Given the description of an element on the screen output the (x, y) to click on. 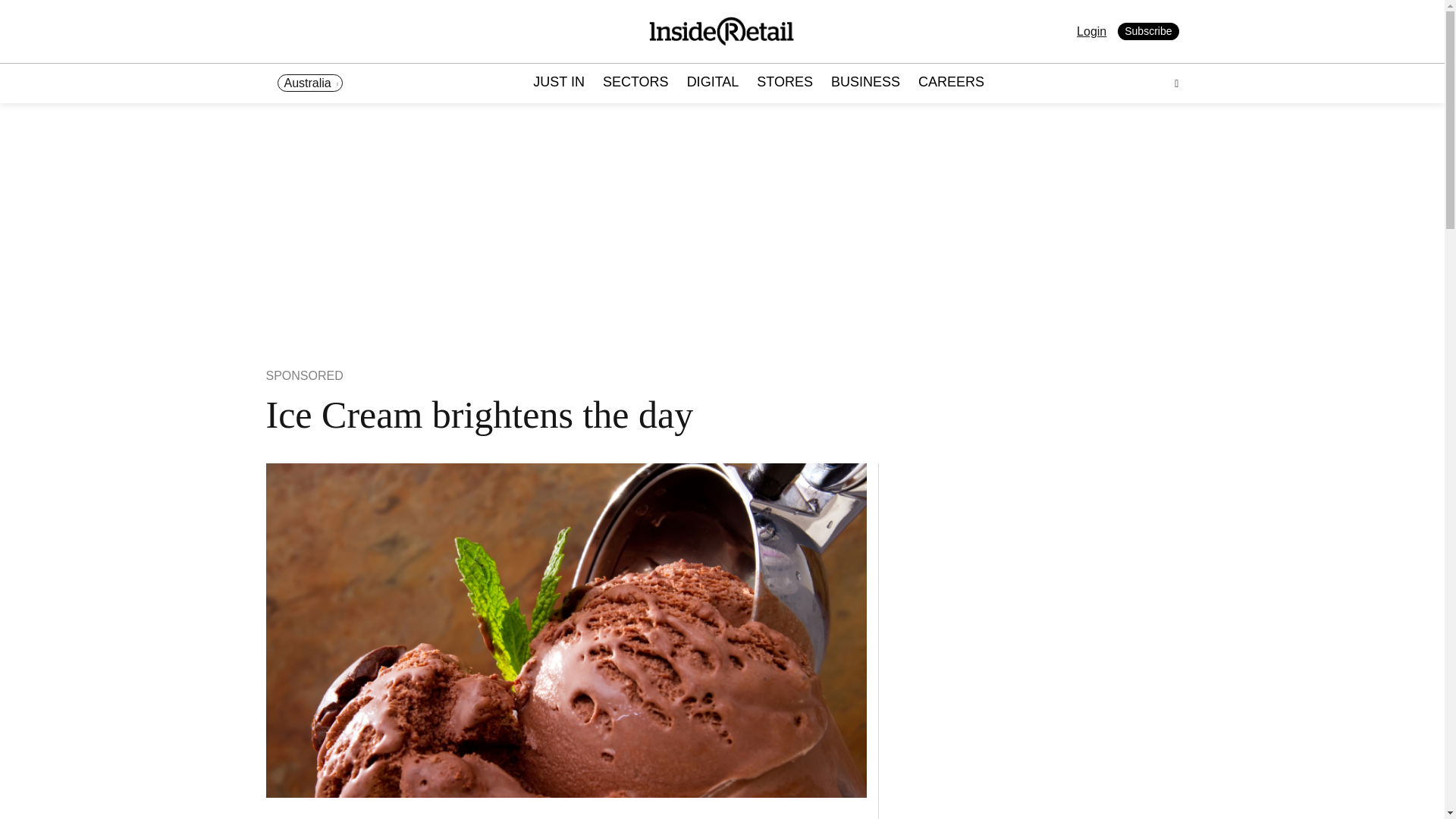
DIGITAL (712, 83)
SECTORS (635, 83)
Login (1091, 31)
Australia (310, 82)
JUST IN (558, 83)
Subscribe (1147, 31)
